Given the description of an element on the screen output the (x, y) to click on. 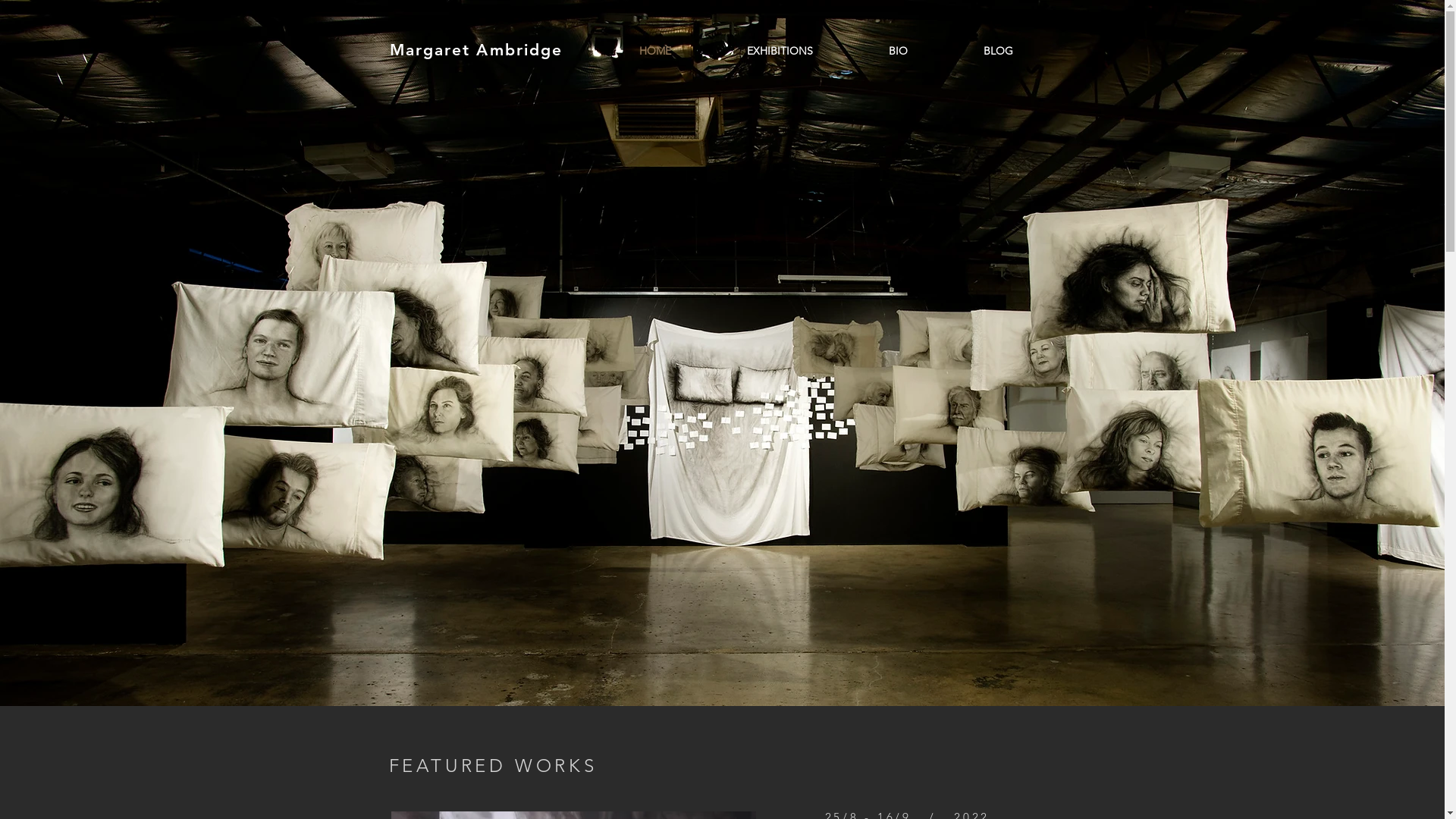
Margaret Ambridge Element type: text (476, 49)
BIO Element type: text (897, 50)
BLOG Element type: text (997, 50)
HOME Element type: text (654, 50)
